Given the description of an element on the screen output the (x, y) to click on. 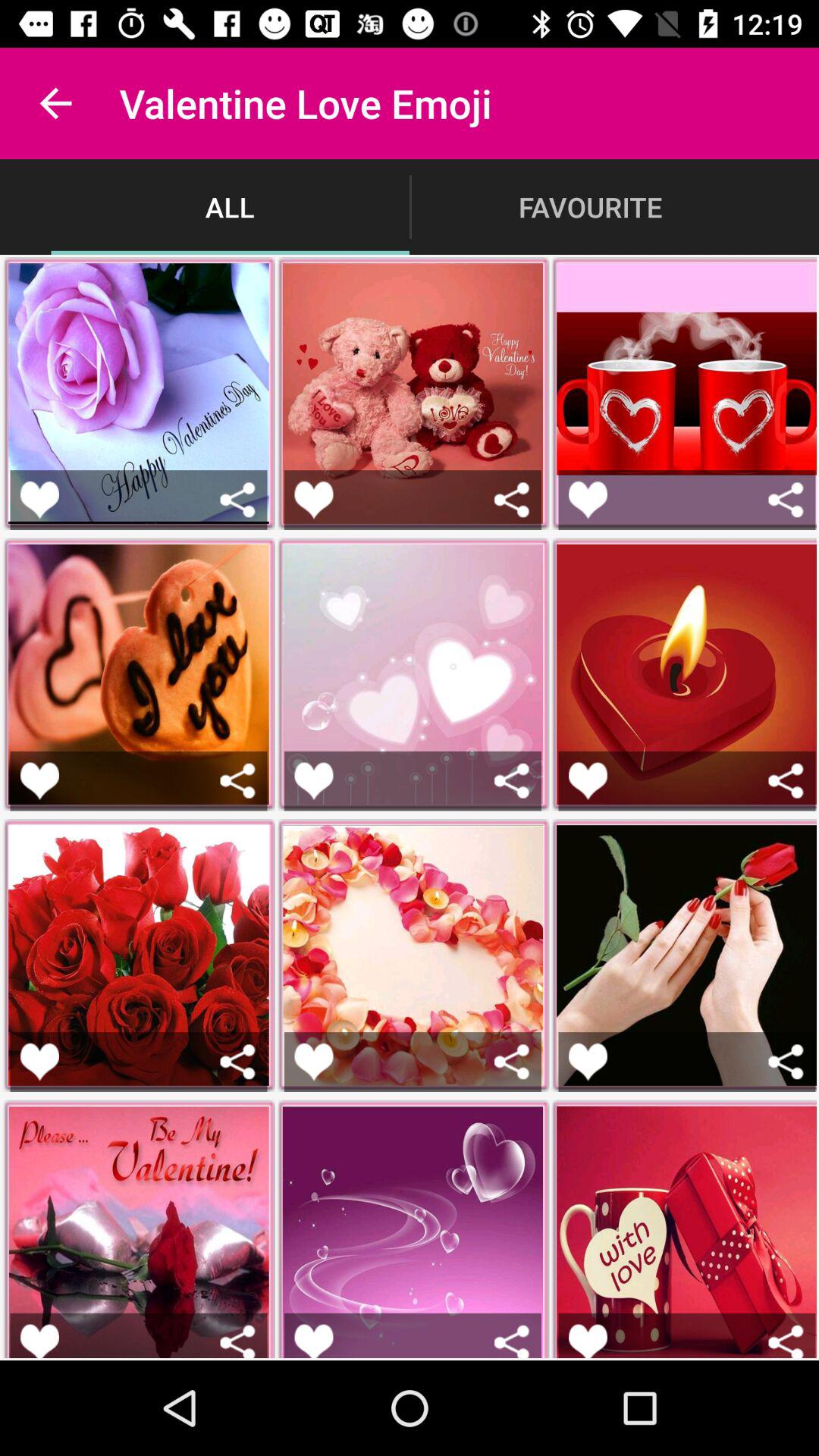
click heart like button happy valentines day (39, 499)
